Given the description of an element on the screen output the (x, y) to click on. 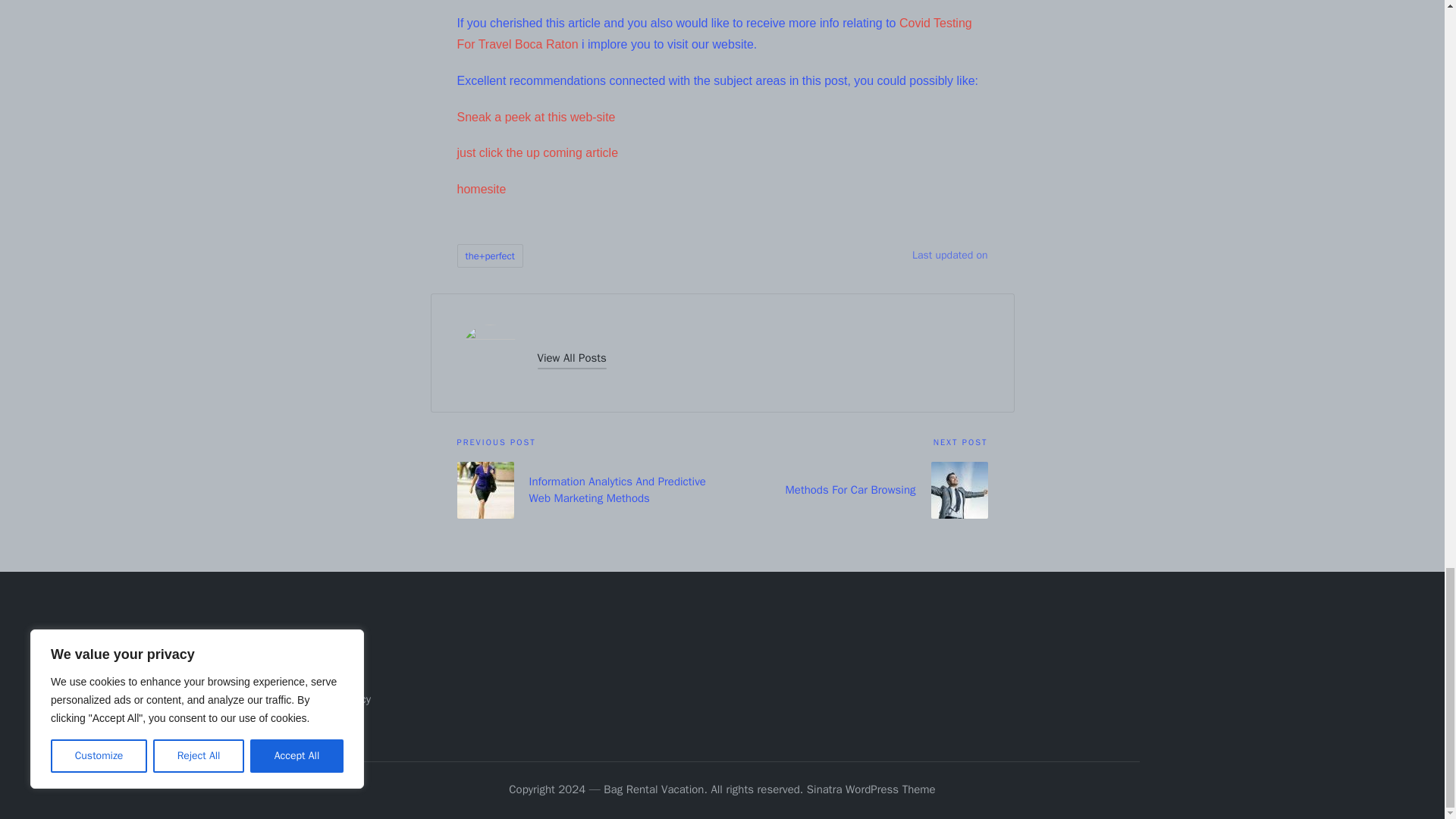
Contact (323, 674)
Sneak a peek at this web-site (535, 115)
About (318, 649)
Sinatra WordPress Theme (871, 790)
homesite (481, 188)
just click the up coming article (537, 152)
Covid Testing For Travel Boca Raton (714, 33)
Methods For Car Browsing (854, 489)
Privacy Policy (337, 698)
View All Posts (571, 358)
Information Analytics And Predictive Web Marketing Methods (589, 489)
